Given the description of an element on the screen output the (x, y) to click on. 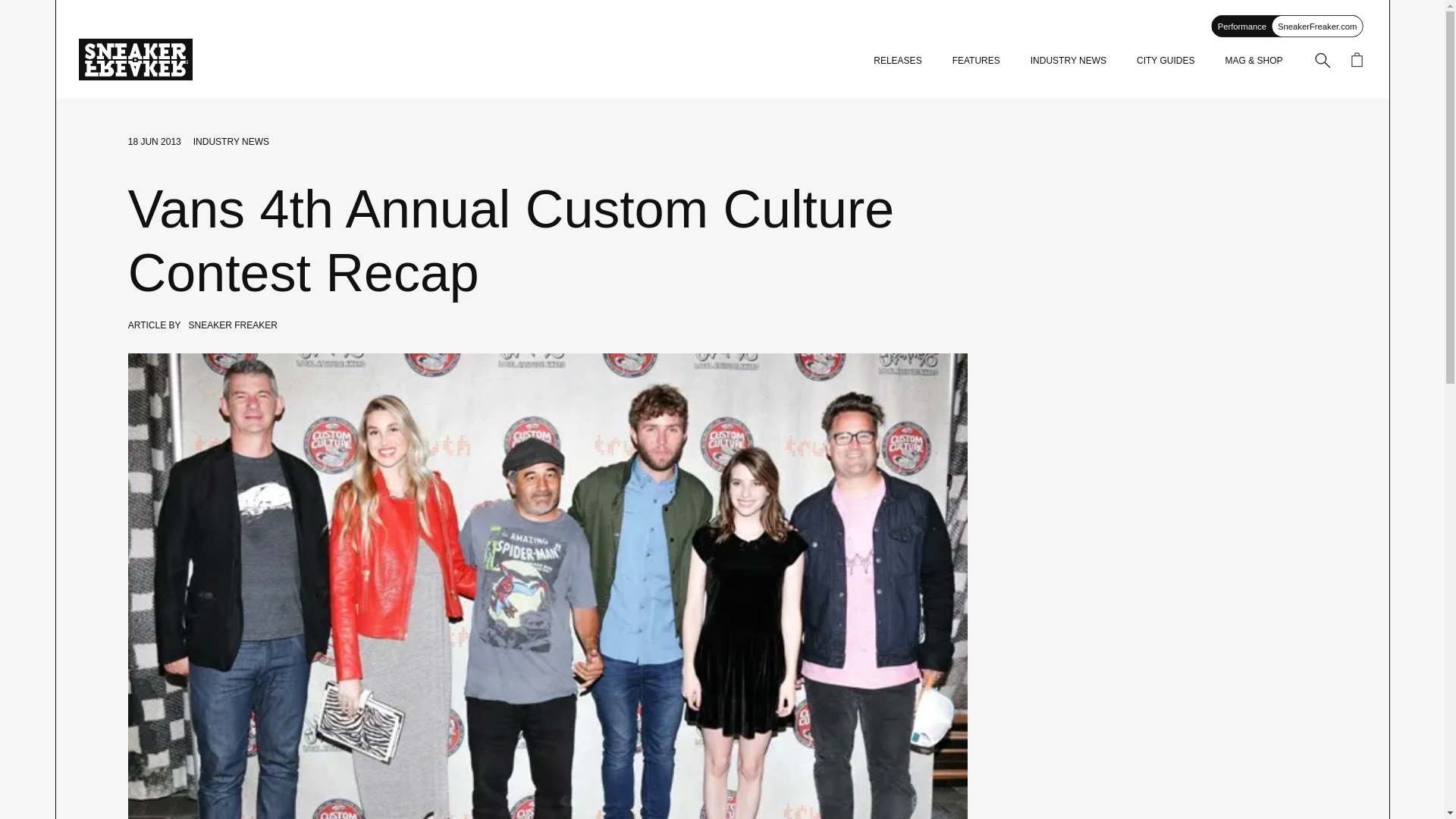
CITY GUIDES (1165, 60)
FEATURES (976, 60)
INDUSTRY NEWS (231, 141)
RELEASES (897, 60)
INDUSTRY NEWS (1068, 60)
